Given the description of an element on the screen output the (x, y) to click on. 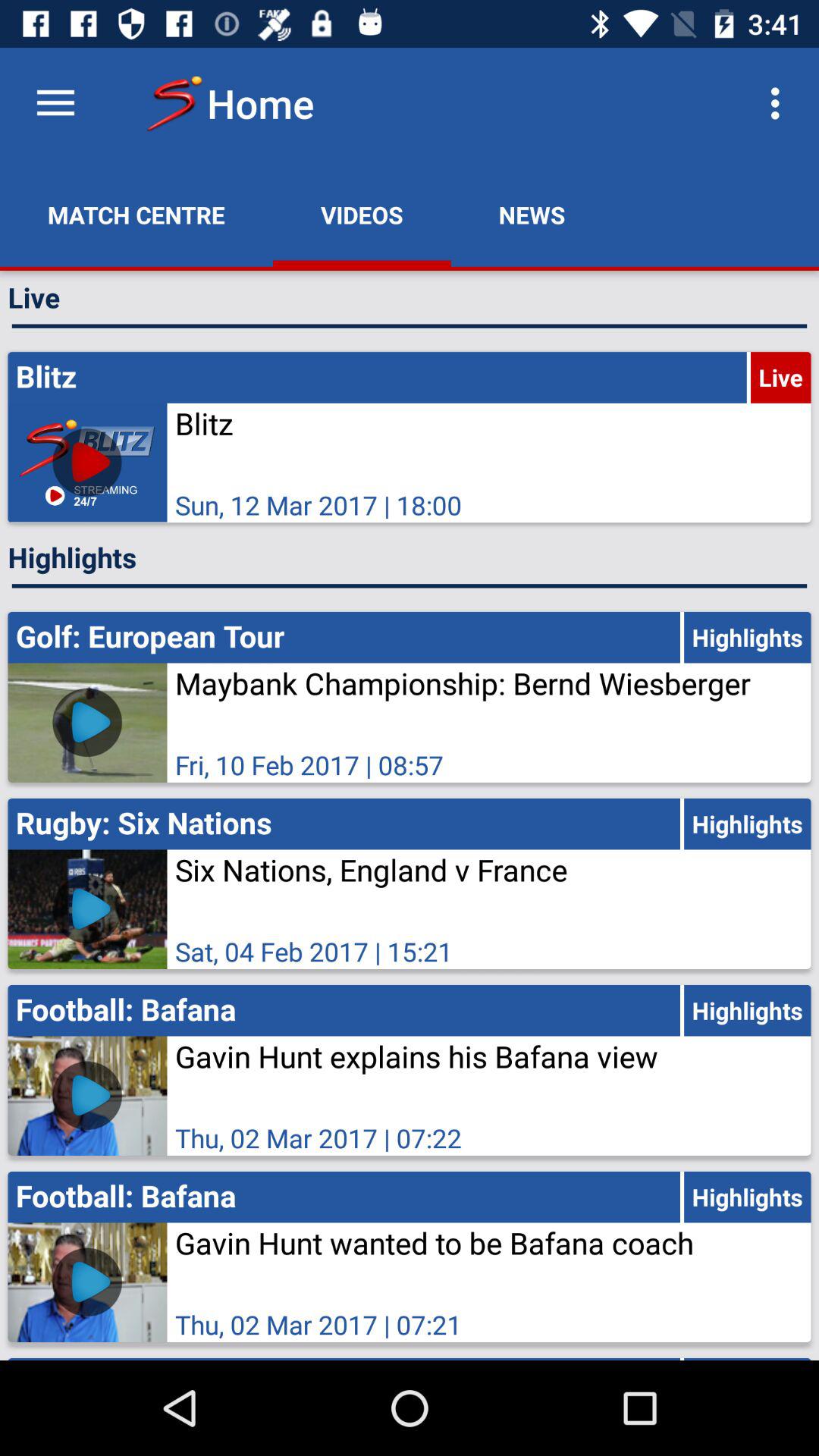
sidebar menu (55, 103)
